Given the description of an element on the screen output the (x, y) to click on. 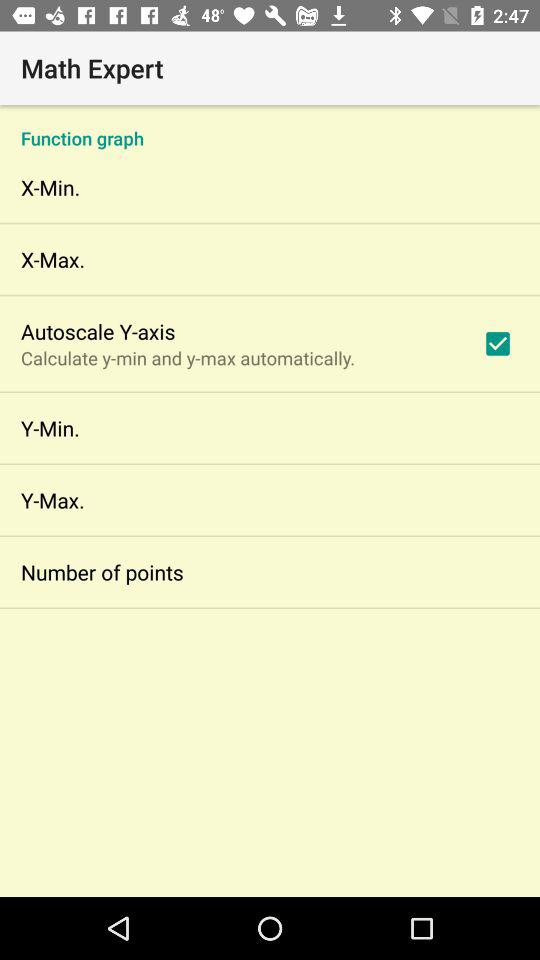
press the item above the calculate y min icon (98, 331)
